Given the description of an element on the screen output the (x, y) to click on. 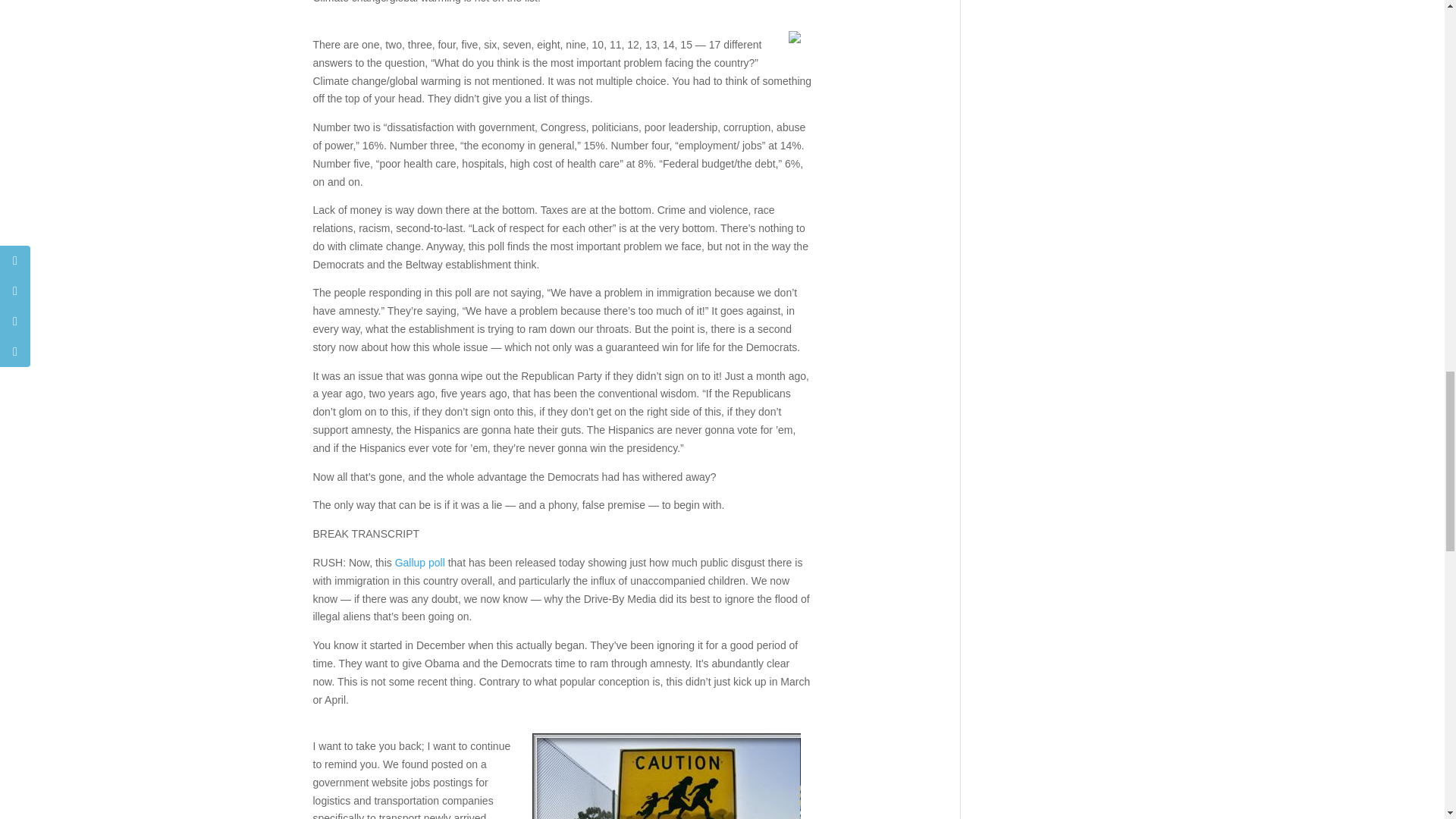
Gallup poll (419, 562)
